Given the description of an element on the screen output the (x, y) to click on. 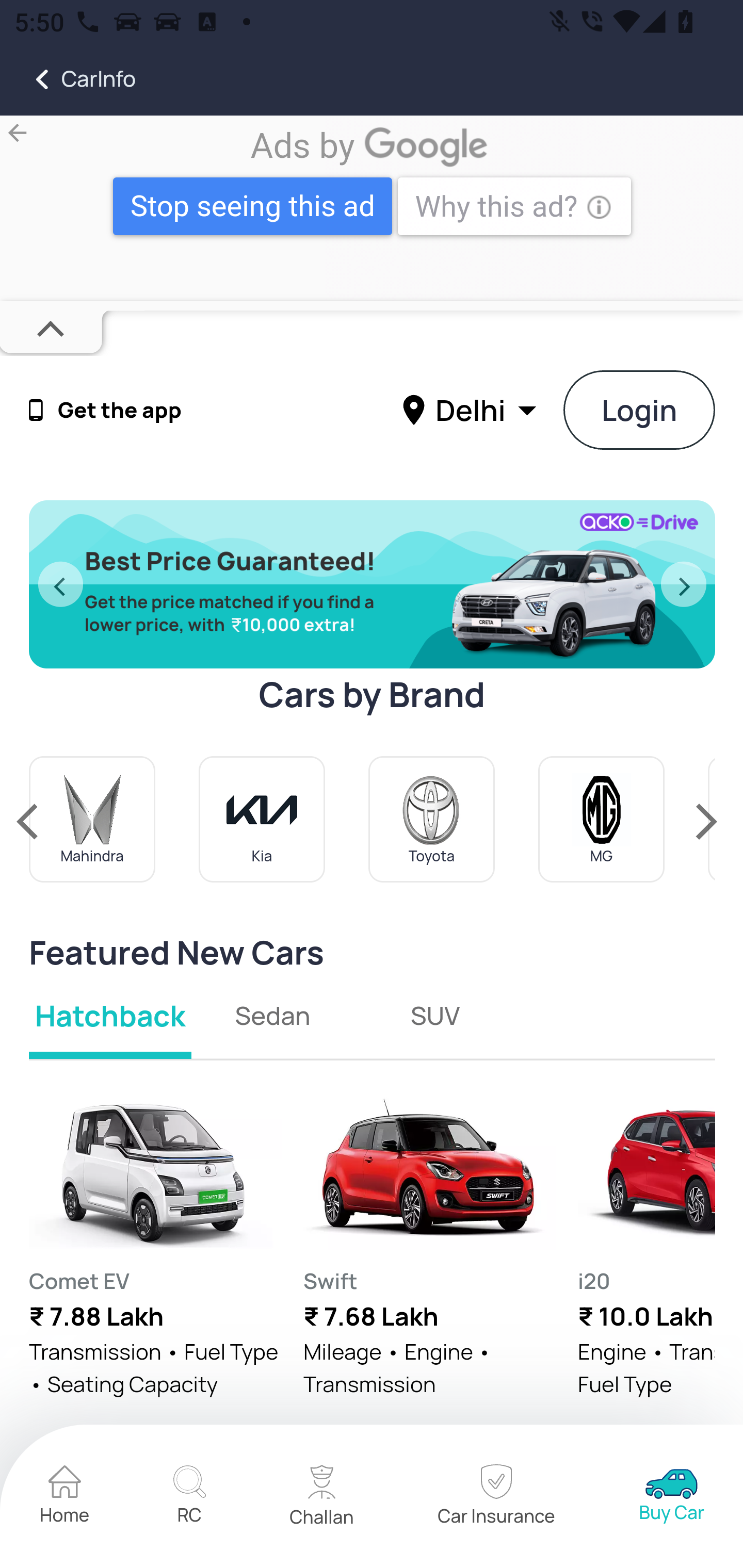
CarInfo (67, 79)
Login (639, 409)
Delhi (471, 408)
Get the app (119, 410)
Previous (60, 584)
Next (684, 584)
Mahindra Mahindra Mahindra Mahindra (92, 819)
Kia Kia Kia Kia (262, 819)
Toyota Toyota Toyota Toyota (431, 819)
MG MG MG MG (601, 819)
Hatchback (110, 1014)
Sedan (273, 1014)
SUV (434, 1014)
home Challan home Challan (322, 1496)
home Home home Home (64, 1496)
home RC home RC (189, 1496)
home Car Insurance home Car Insurance (496, 1497)
home Buy Car home Buy Car (671, 1497)
